Given the description of an element on the screen output the (x, y) to click on. 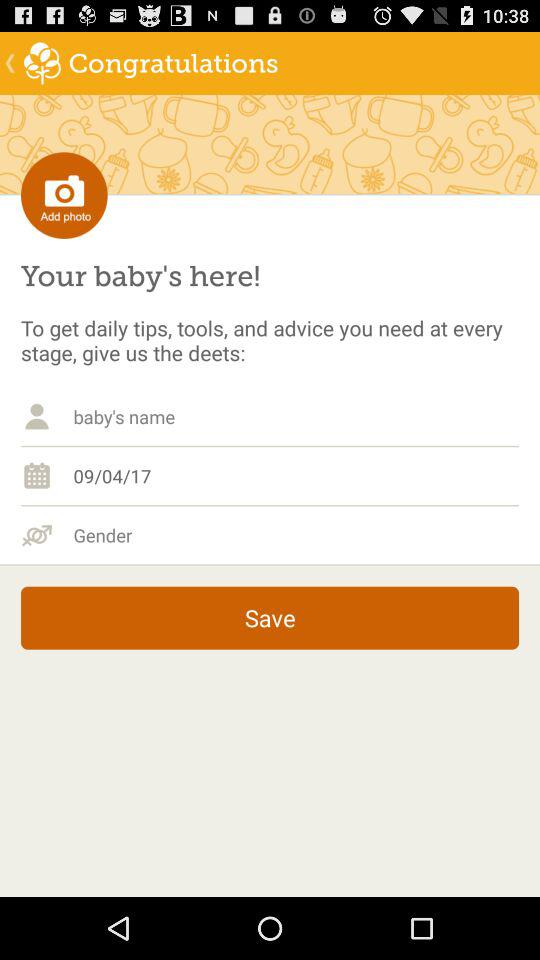
swipe to the 09/04/17 item (296, 475)
